Given the description of an element on the screen output the (x, y) to click on. 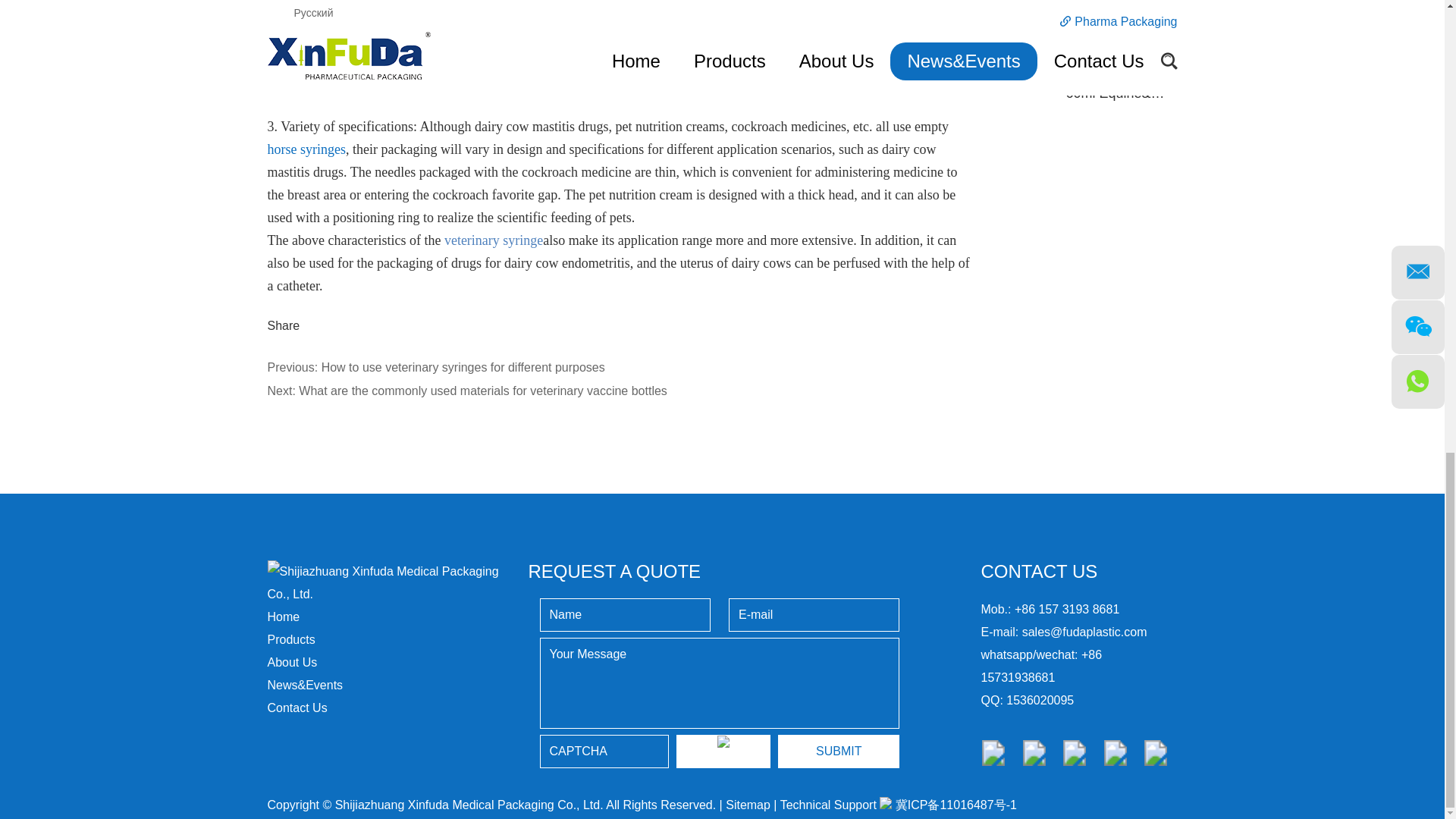
Submit (838, 751)
horse syringe (305, 149)
cockroach syringe (619, 79)
veterinary syringe (493, 240)
30ml Dial a Dose Syringe (1142, 12)
30ml Dial a Dose Syringe (1027, 30)
Product features of veterinary syringes (619, 30)
cockroach syringe (619, 56)
